Given the description of an element on the screen output the (x, y) to click on. 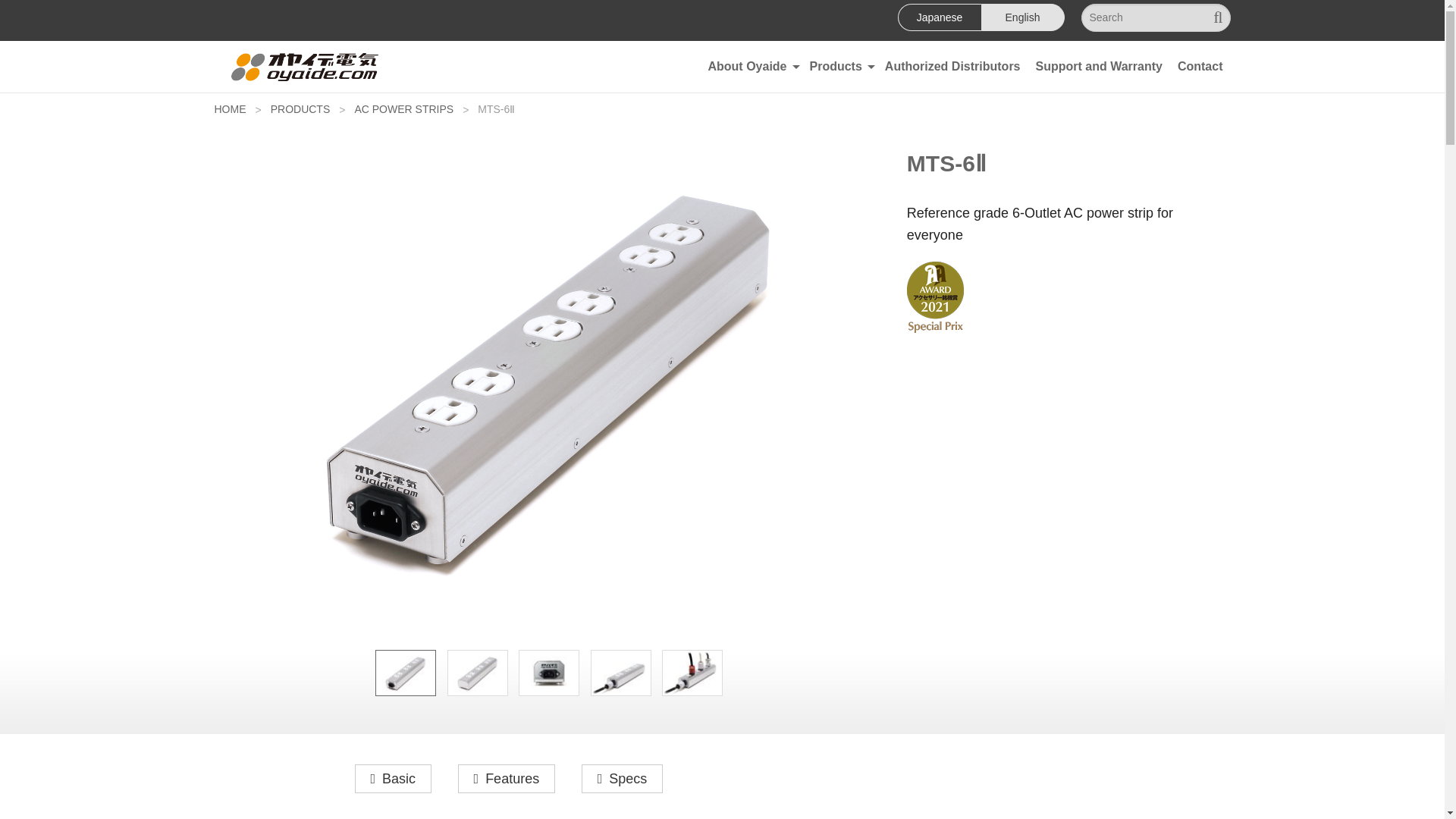
English (1022, 17)
Our Philosophy (751, 179)
Products (839, 66)
AC Power Cables (839, 144)
Japanese (939, 17)
English (1022, 17)
The Fine Technology Behind "102SSC" Precision Conductor (751, 248)
Japanese (939, 17)
About Oyaide (751, 66)
Company Profile (751, 109)
AC Power Plugs and IEC Connectors (839, 109)
History of Oyaide Electric (751, 144)
